Given the description of an element on the screen output the (x, y) to click on. 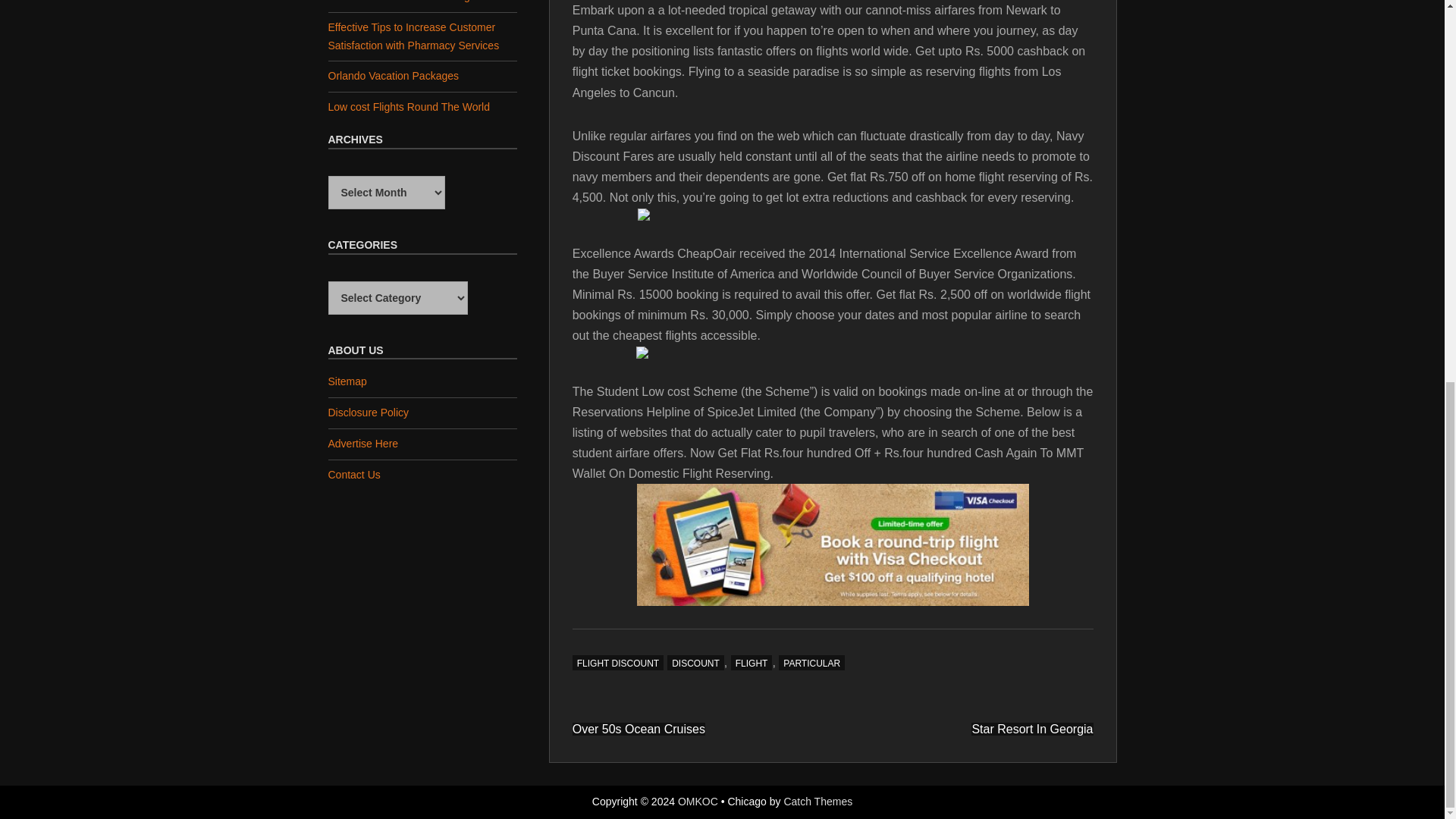
FLIGHT (751, 662)
DISCOUNT (694, 662)
FLIGHT DISCOUNT (617, 662)
PARTICULAR (811, 662)
Over 50s Ocean Cruises (638, 728)
Star Resort In Georgia (1032, 728)
